Given the description of an element on the screen output the (x, y) to click on. 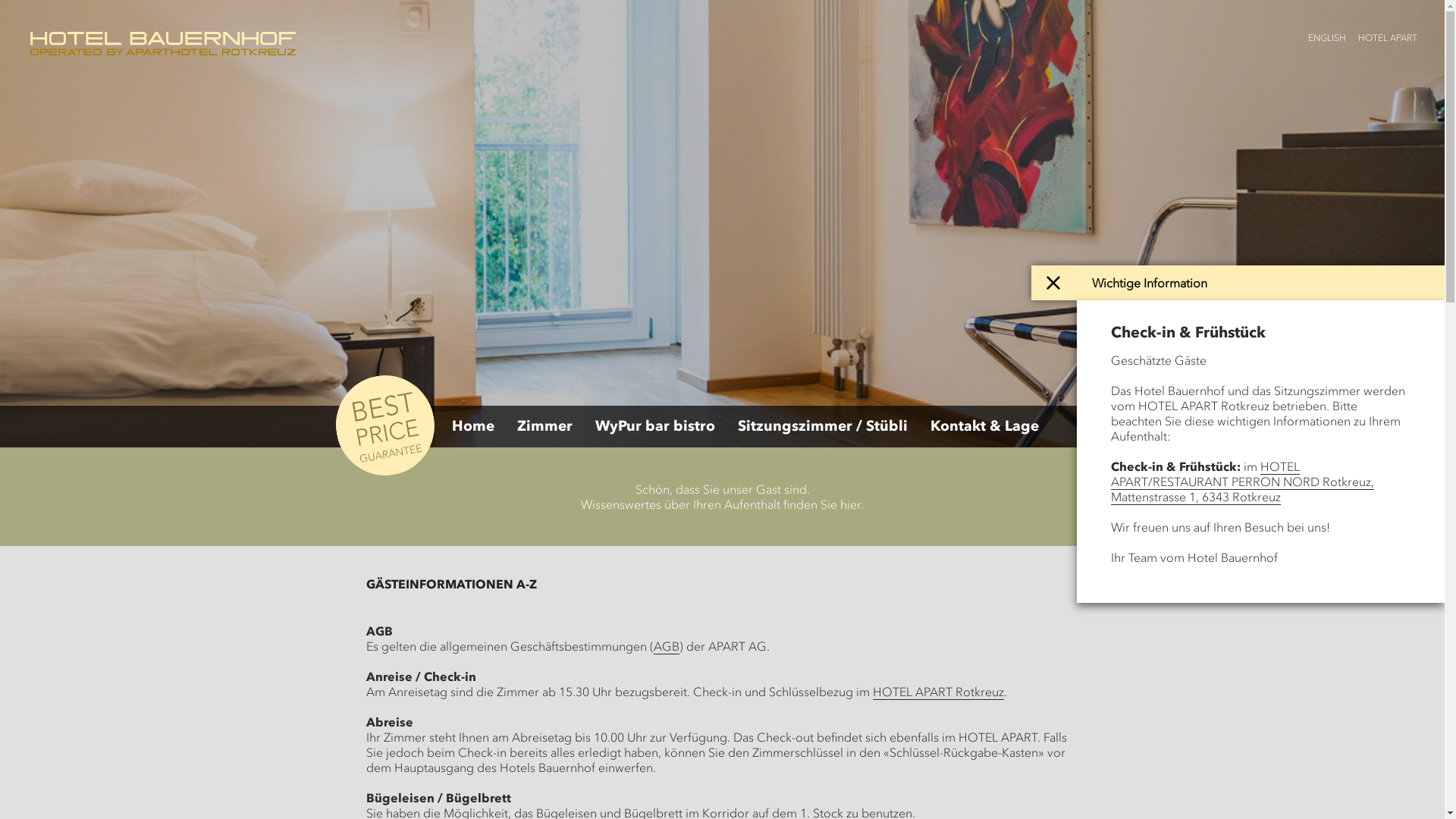
HOTEL APART Rotkreuz Element type: text (937, 691)
AGB Element type: text (666, 646)
Zimmer Element type: text (544, 426)
Home Element type: text (472, 426)
HOTEL APART Element type: text (1393, 36)
WyPur bar bistro Element type: text (654, 426)
Kontakt & Lage Element type: text (983, 426)
ENGLISH Element type: text (1333, 36)
